Given the description of an element on the screen output the (x, y) to click on. 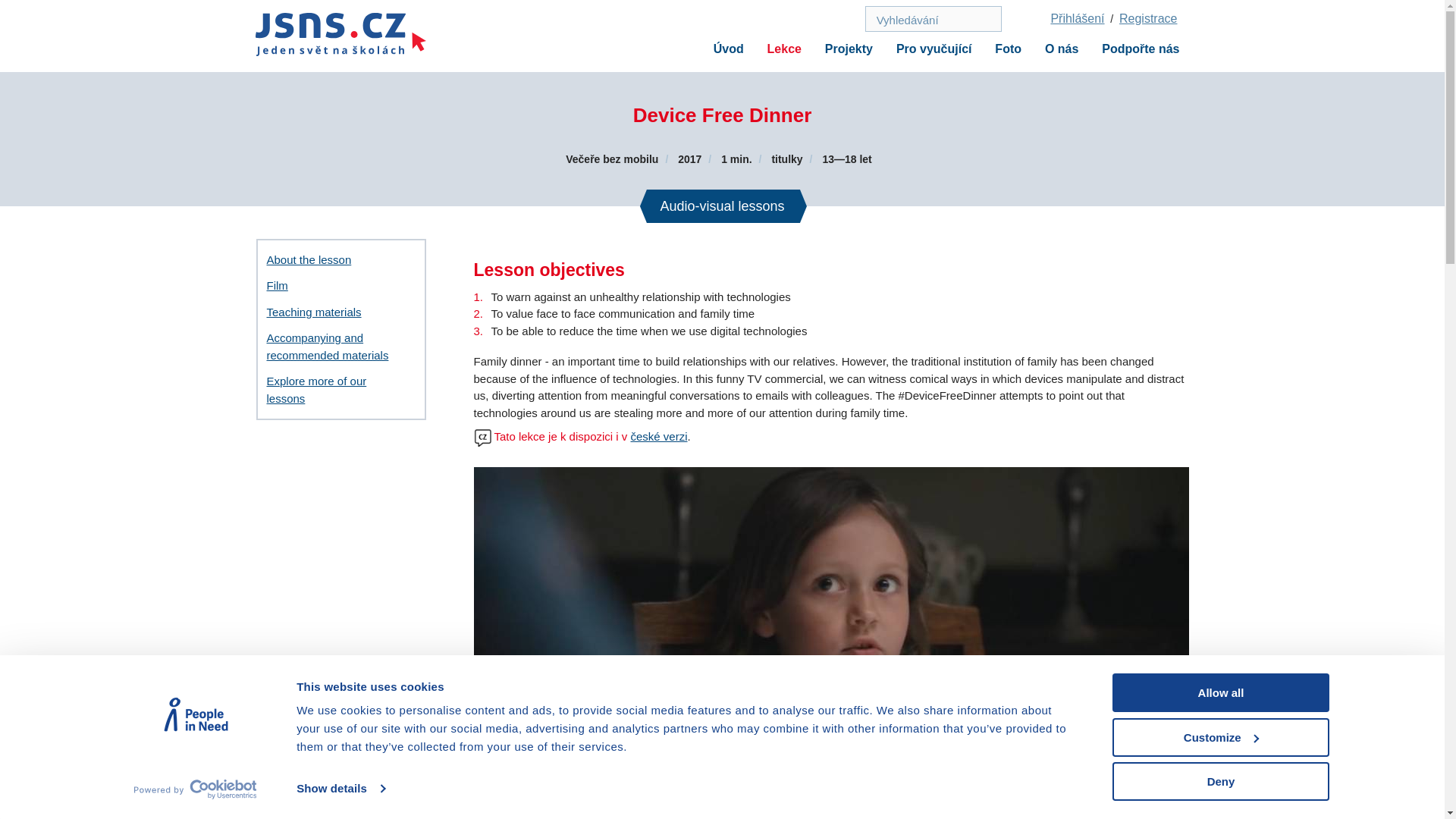
Show details (340, 788)
